Given the description of an element on the screen output the (x, y) to click on. 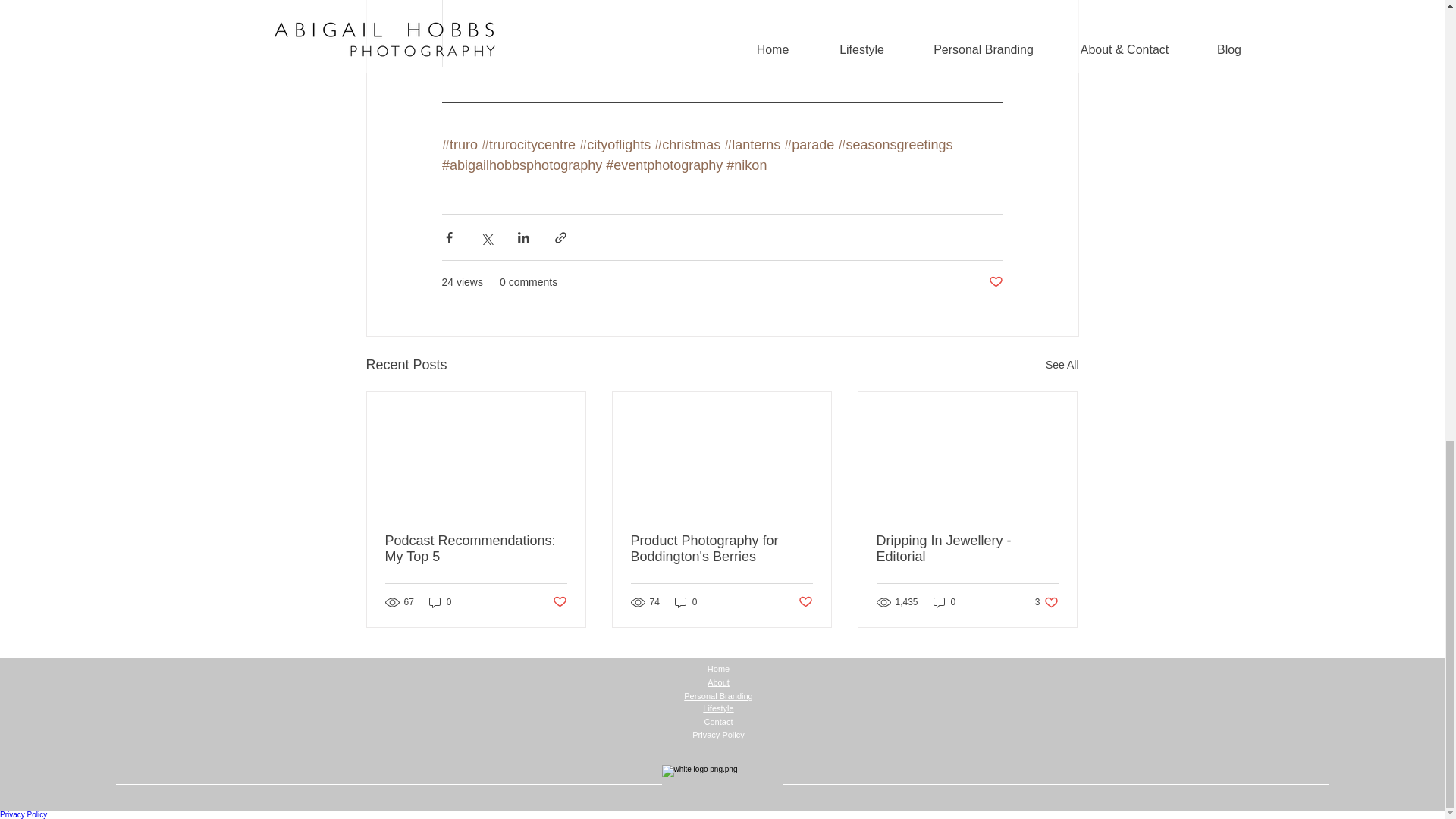
See All (1061, 364)
0 (440, 602)
Home (718, 668)
0 (685, 602)
0 (944, 602)
Product Photography for Boddington's Berries (1046, 602)
Podcast Recommendations: My Top 5 (721, 549)
Dripping In Jewellery - Editorial (476, 549)
Post not marked as liked (967, 549)
Post not marked as liked (558, 601)
Post not marked as liked (804, 601)
